Given the description of an element on the screen output the (x, y) to click on. 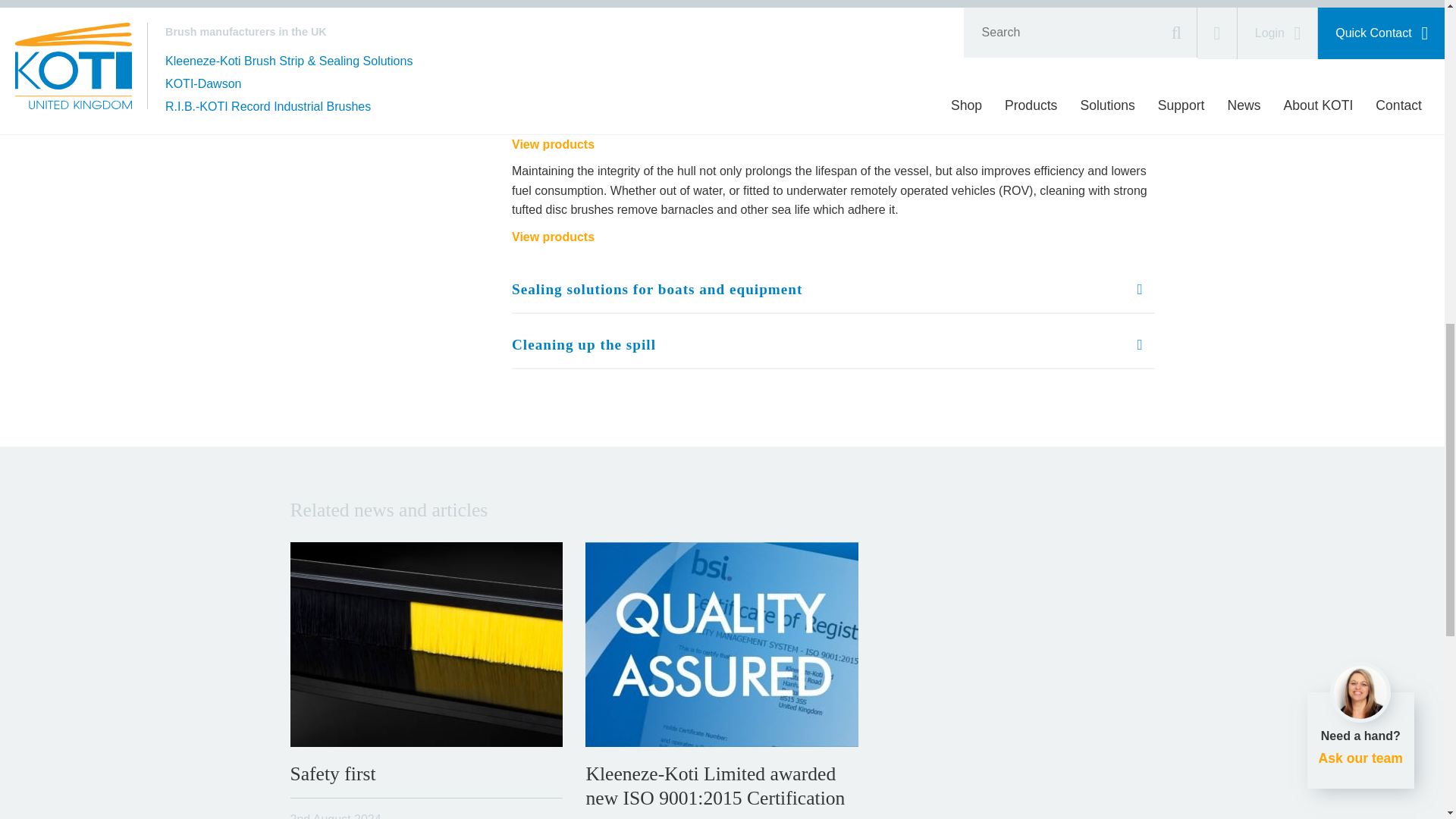
Cleaning up the spill (833, 345)
Sealing solutions for boats and equipment (833, 289)
View products (553, 144)
View products (553, 236)
